Given the description of an element on the screen output the (x, y) to click on. 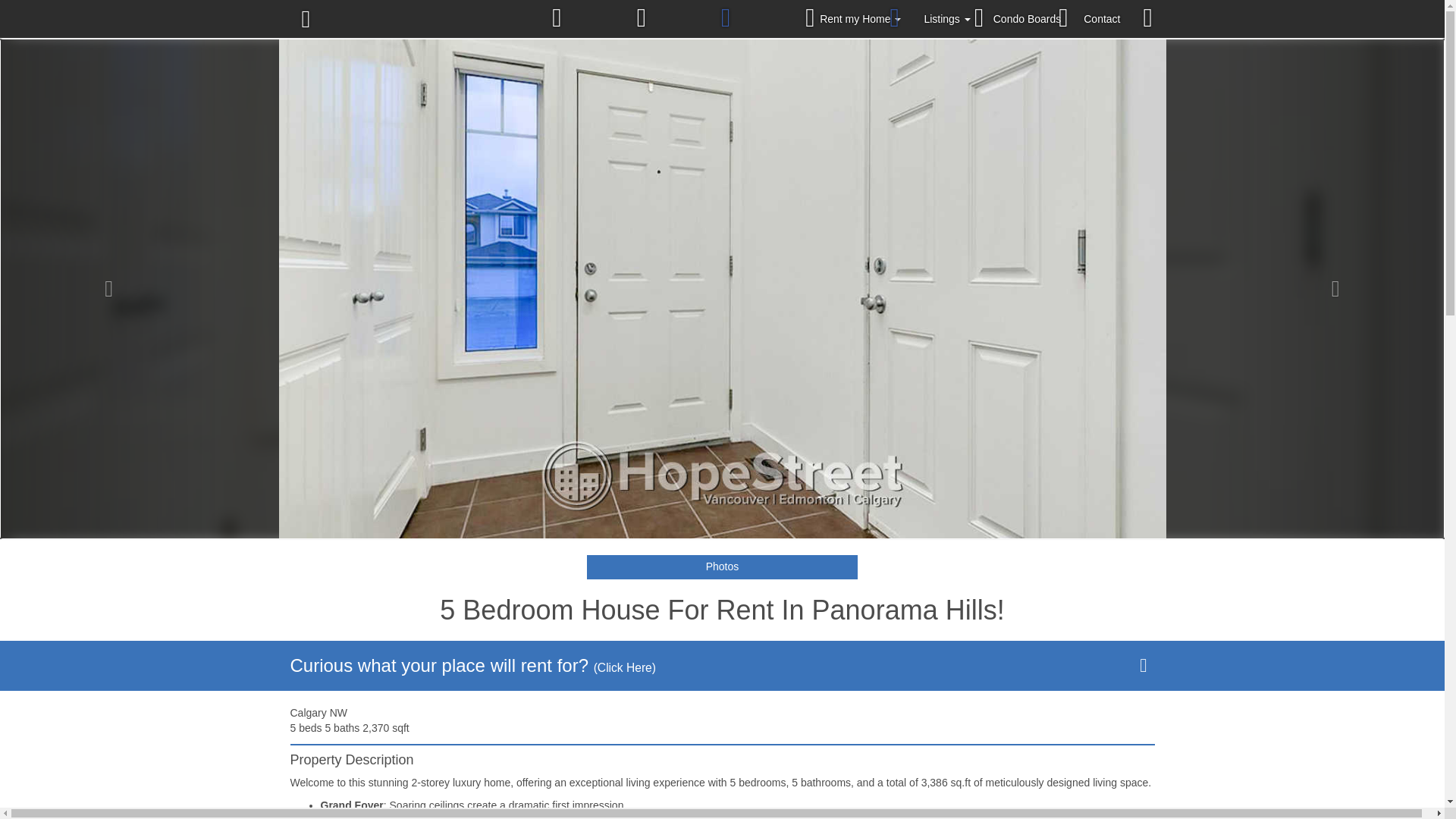
Contact (1101, 18)
Rent my Home (860, 18)
Photos (722, 566)
Listings (946, 18)
Condo Boards (1027, 18)
